Given the description of an element on the screen output the (x, y) to click on. 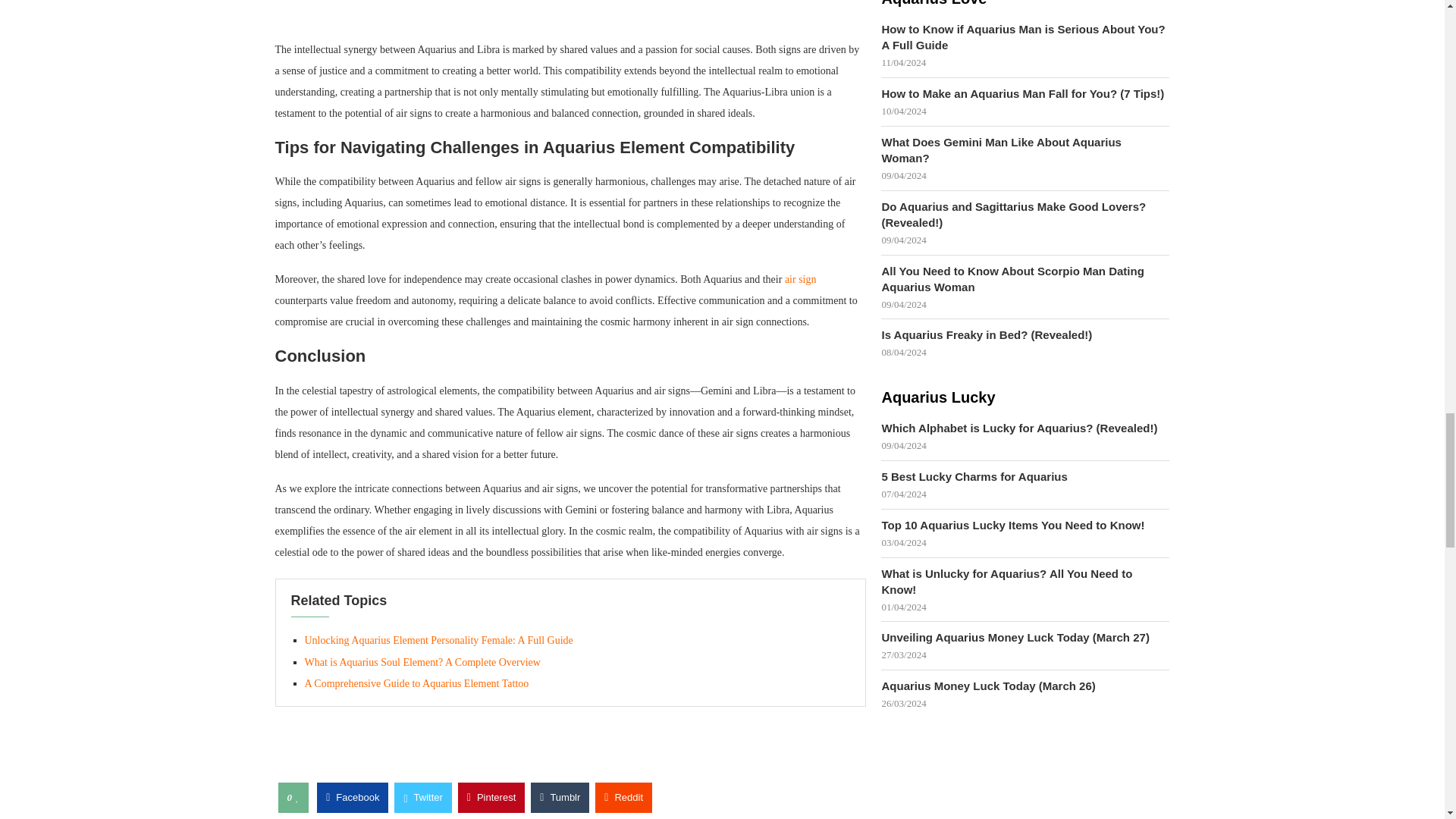
Like (297, 797)
air sign (800, 279)
